Given the description of an element on the screen output the (x, y) to click on. 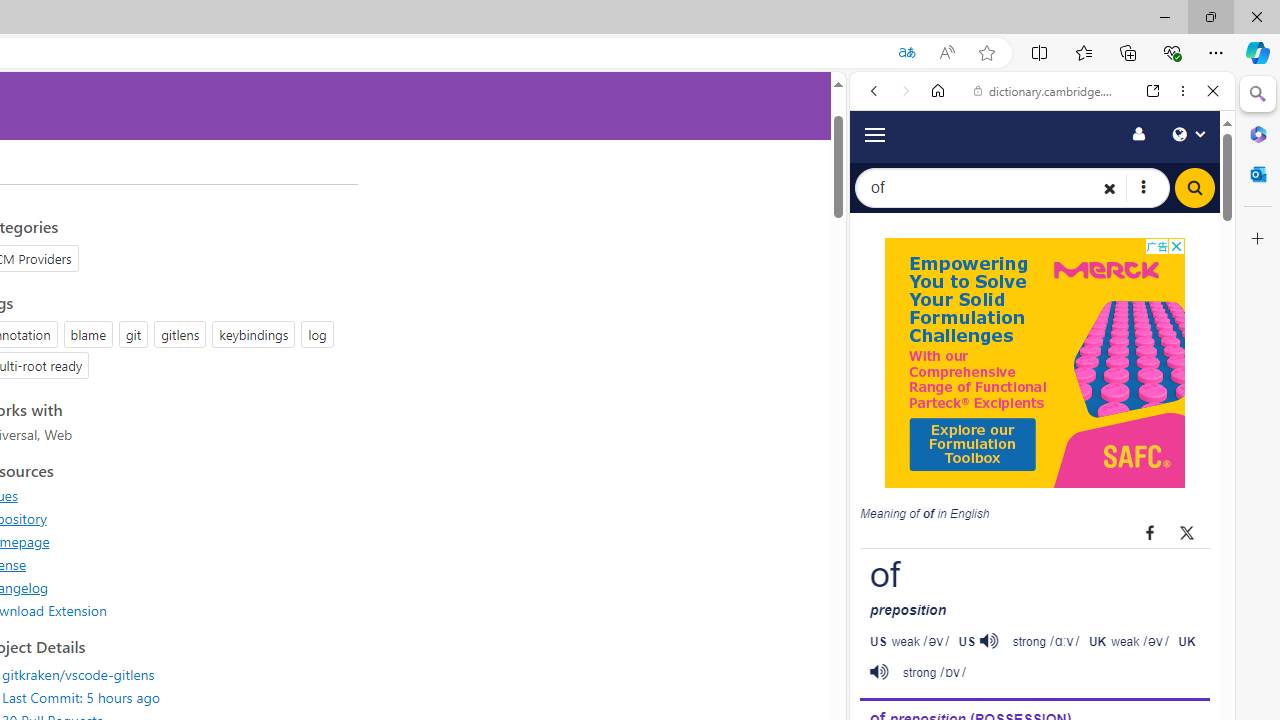
Open language selection panel (1188, 133)
Translated (906, 53)
